Given the description of an element on the screen output the (x, y) to click on. 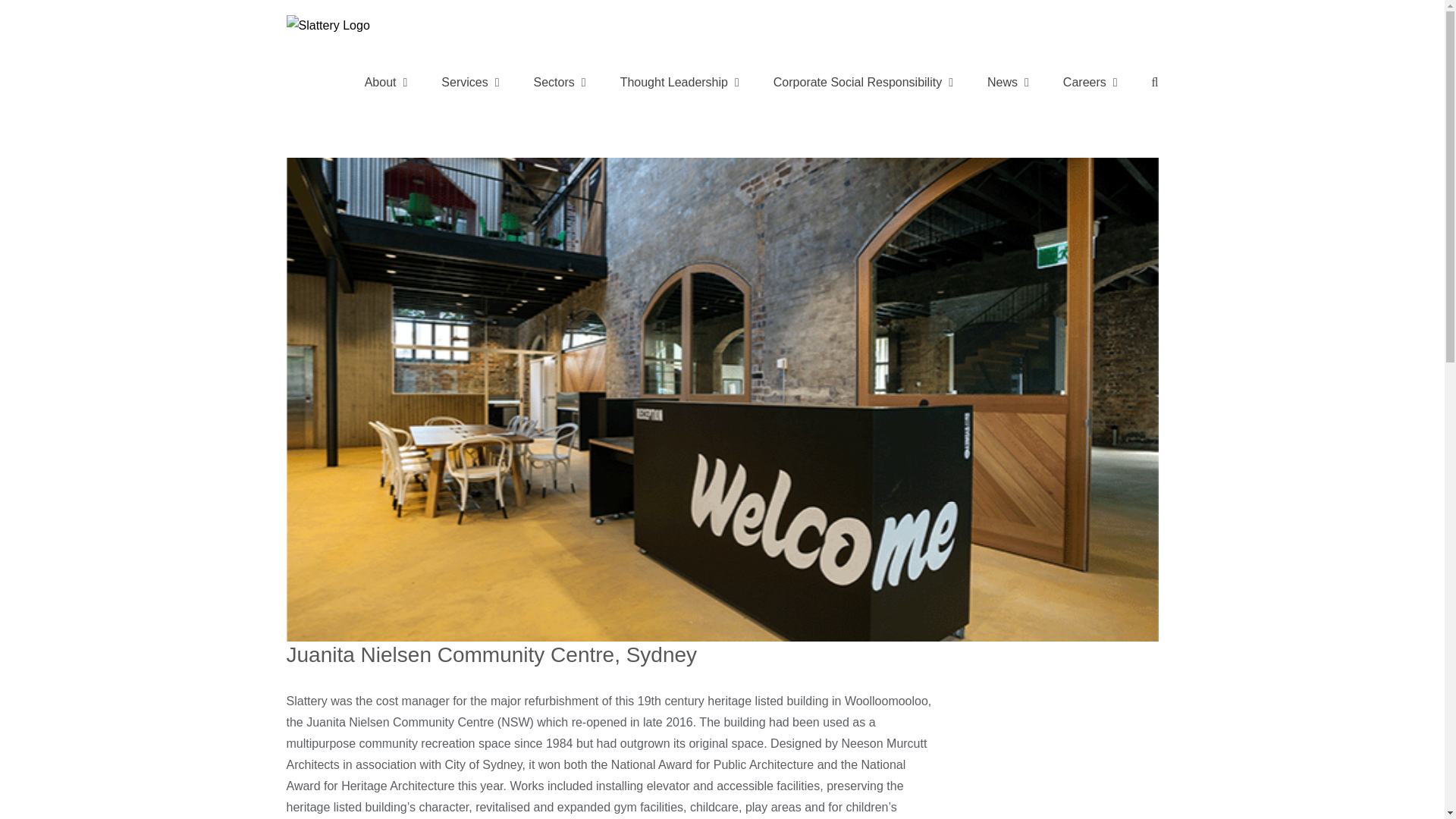
Services (470, 81)
